Given the description of an element on the screen output the (x, y) to click on. 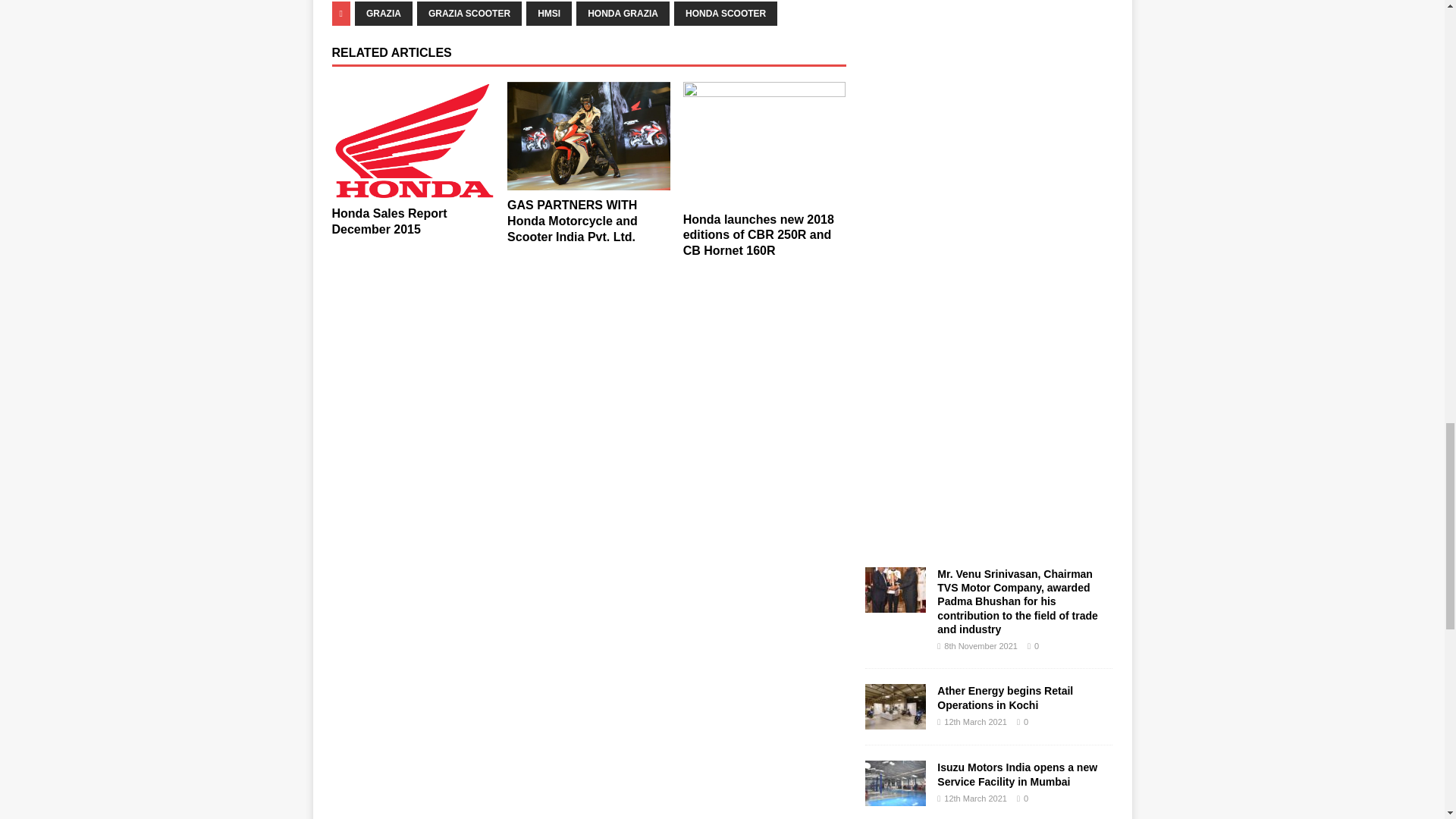
HONDA GRAZIA (622, 13)
HMSI (548, 13)
GRAZIA SCOOTER (468, 13)
GRAZIA (383, 13)
